Given the description of an element on the screen output the (x, y) to click on. 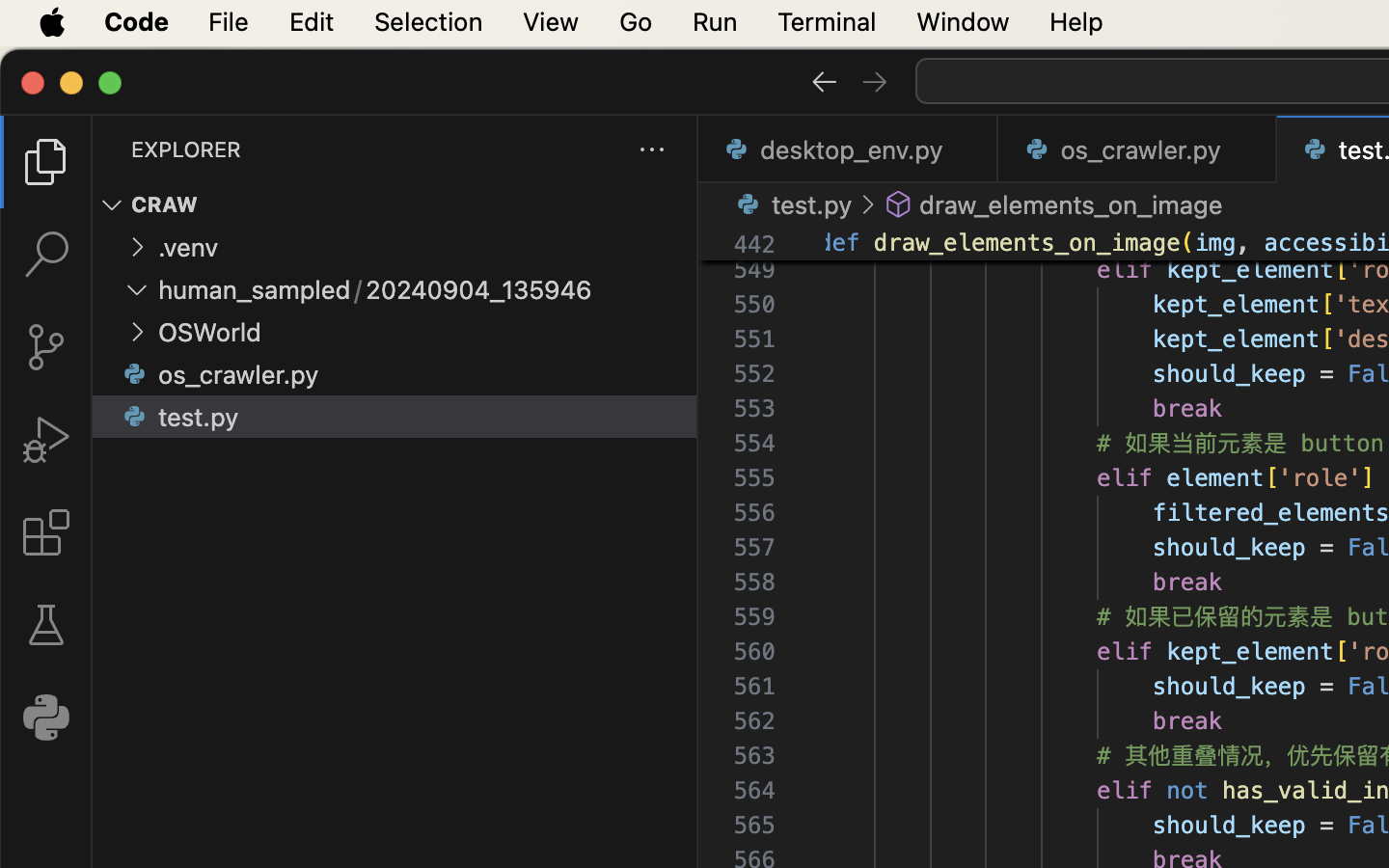
draw_elements_on_image Element type: AXGroup (1071, 204)
img Element type: AXStaticText (1215, 242)
os_crawler.py Element type: AXStaticText (239, 374)
0 Element type: AXRadioButton (46, 717)
OSWorld Element type: AXStaticText (210, 332)
